Given the description of an element on the screen output the (x, y) to click on. 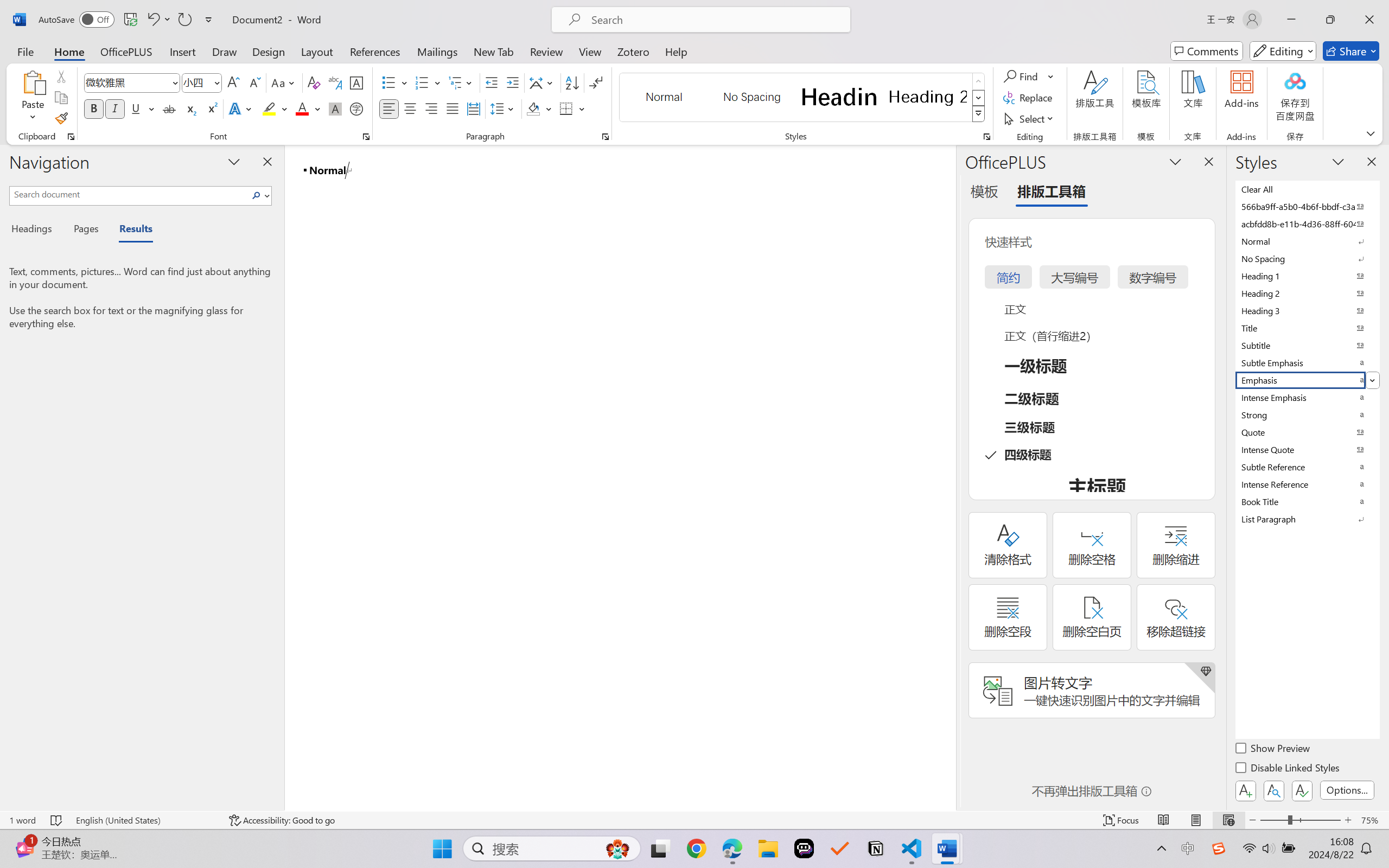
AutomationID: QuickStylesGallery (802, 97)
Home (69, 51)
Title (1306, 327)
Character Shading (334, 108)
Book Title (1306, 501)
Clear Formatting (313, 82)
Task Pane Options (1175, 161)
566ba9ff-a5b0-4b6f-bbdf-c3ab41993fc2 (1306, 206)
Numbering (428, 82)
Clear All (1306, 188)
Class: NetUIImage (978, 114)
Multilevel List (461, 82)
Print Layout (1196, 819)
